Given the description of an element on the screen output the (x, y) to click on. 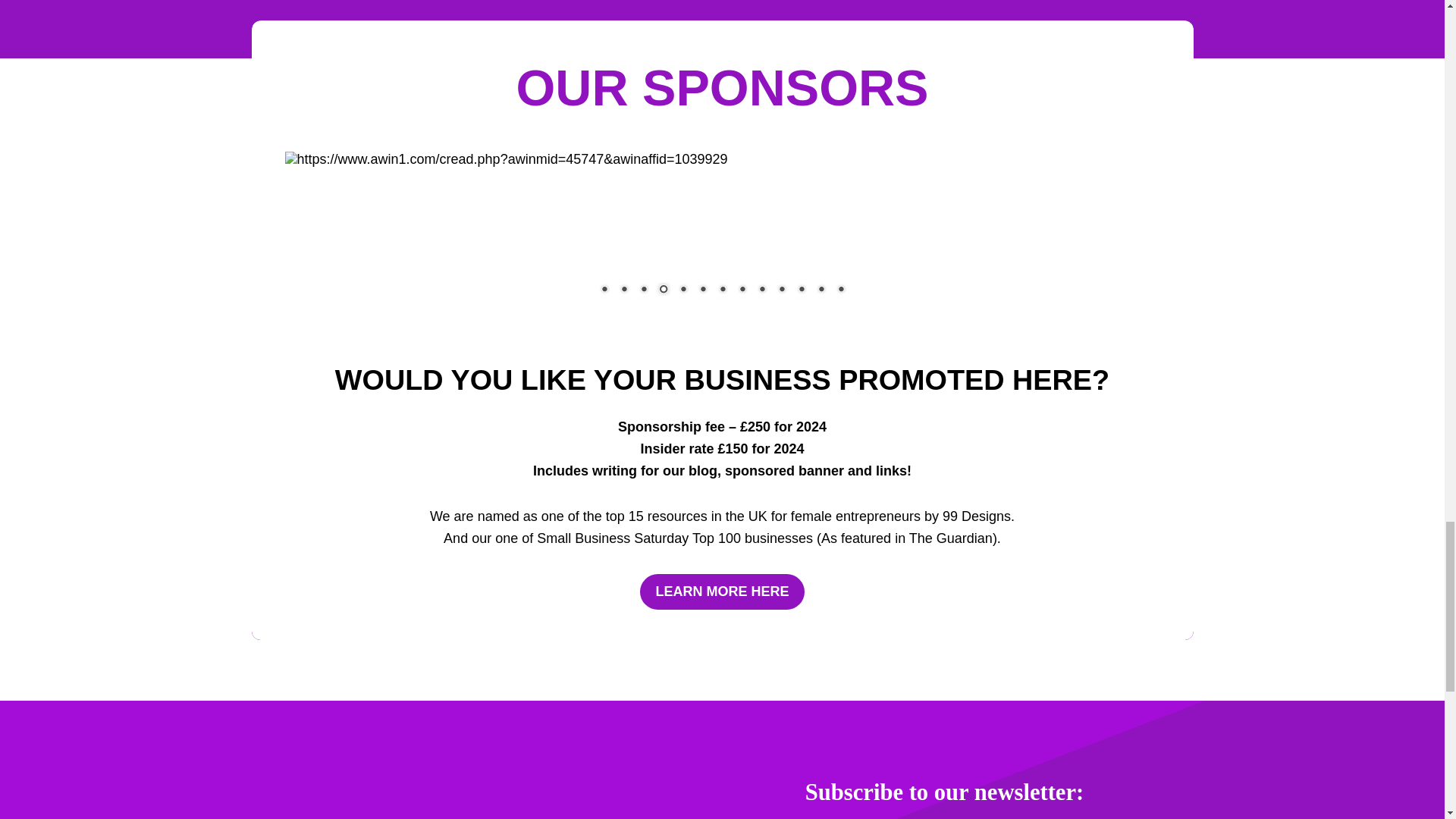
Form 0 (943, 814)
